Given the description of an element on the screen output the (x, y) to click on. 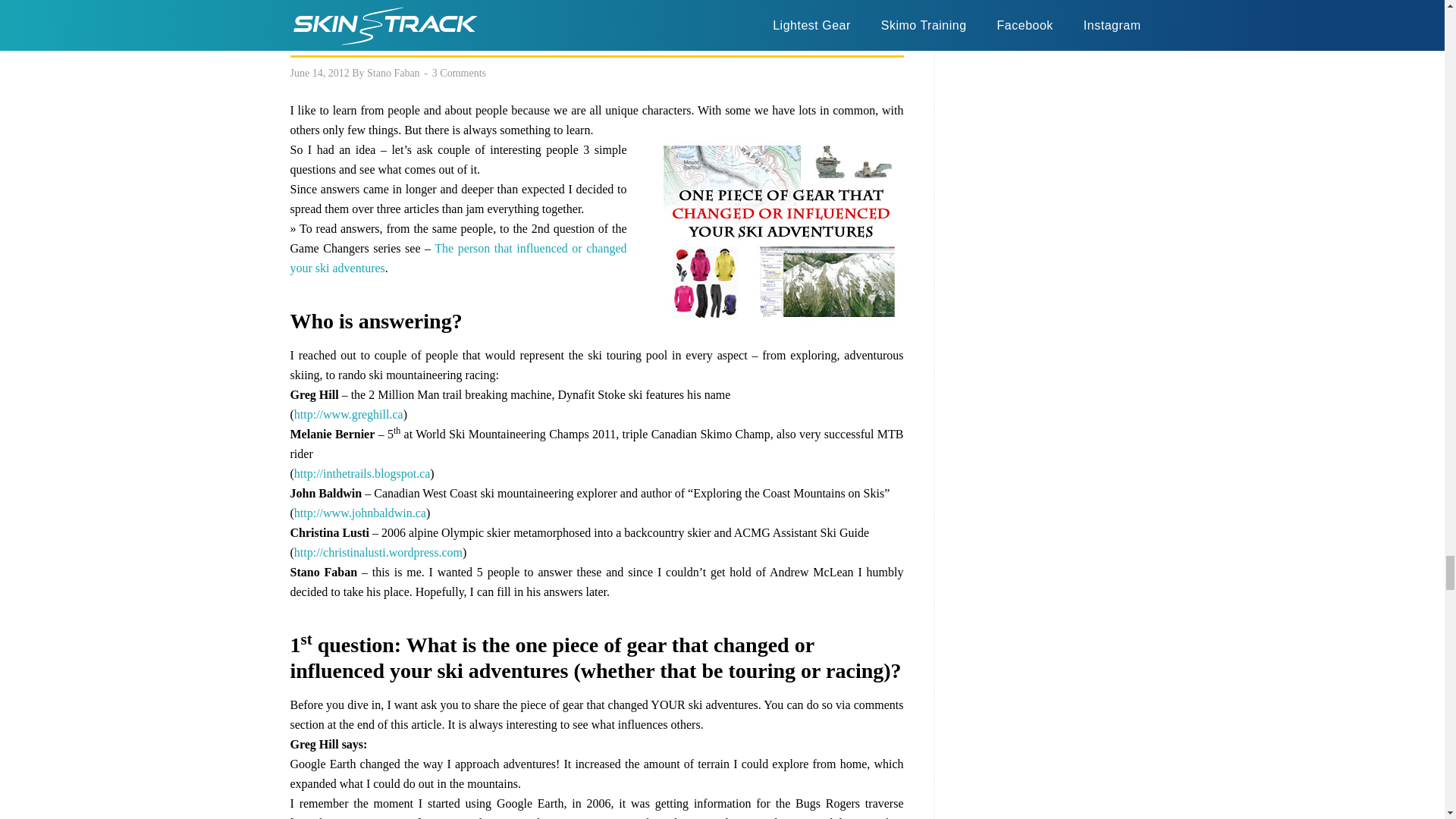
game-changer-gear-325x240 (779, 230)
